Given the description of an element on the screen output the (x, y) to click on. 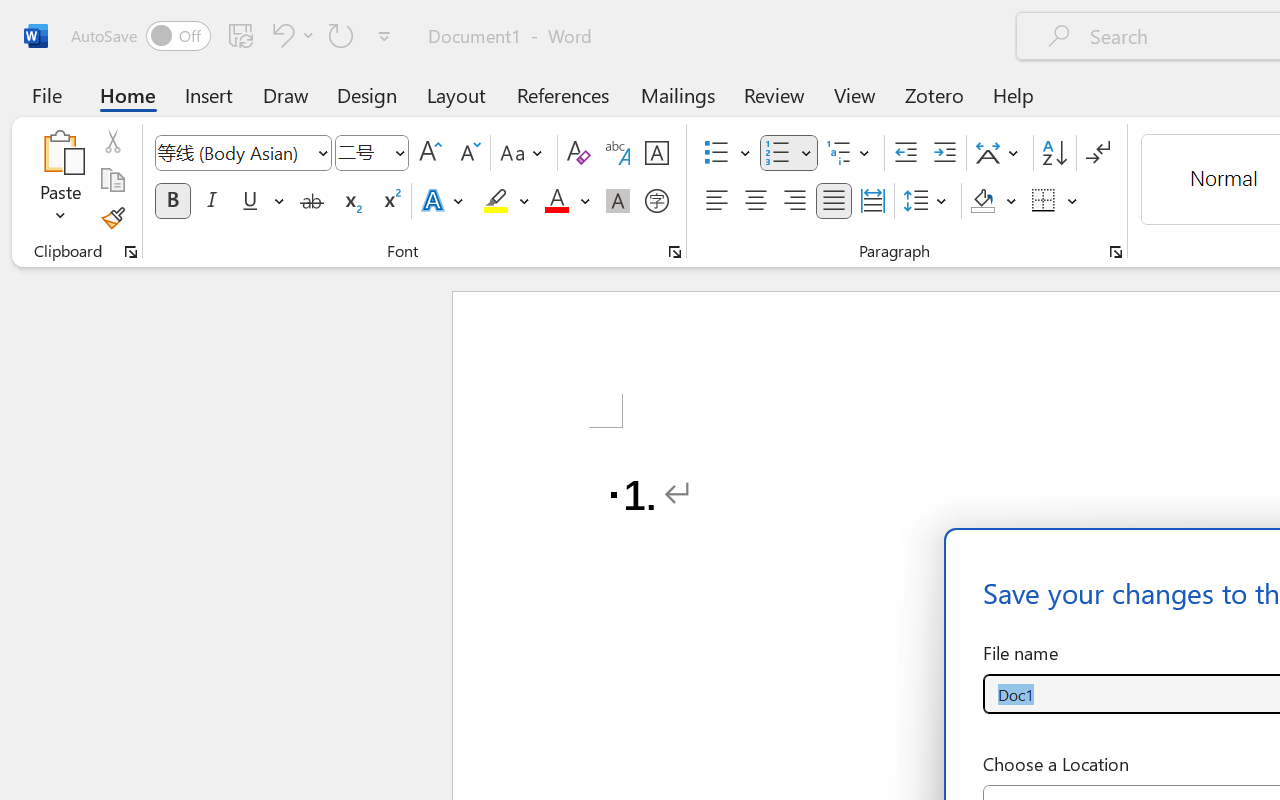
Repeat Number Default (341, 35)
